Given the description of an element on the screen output the (x, y) to click on. 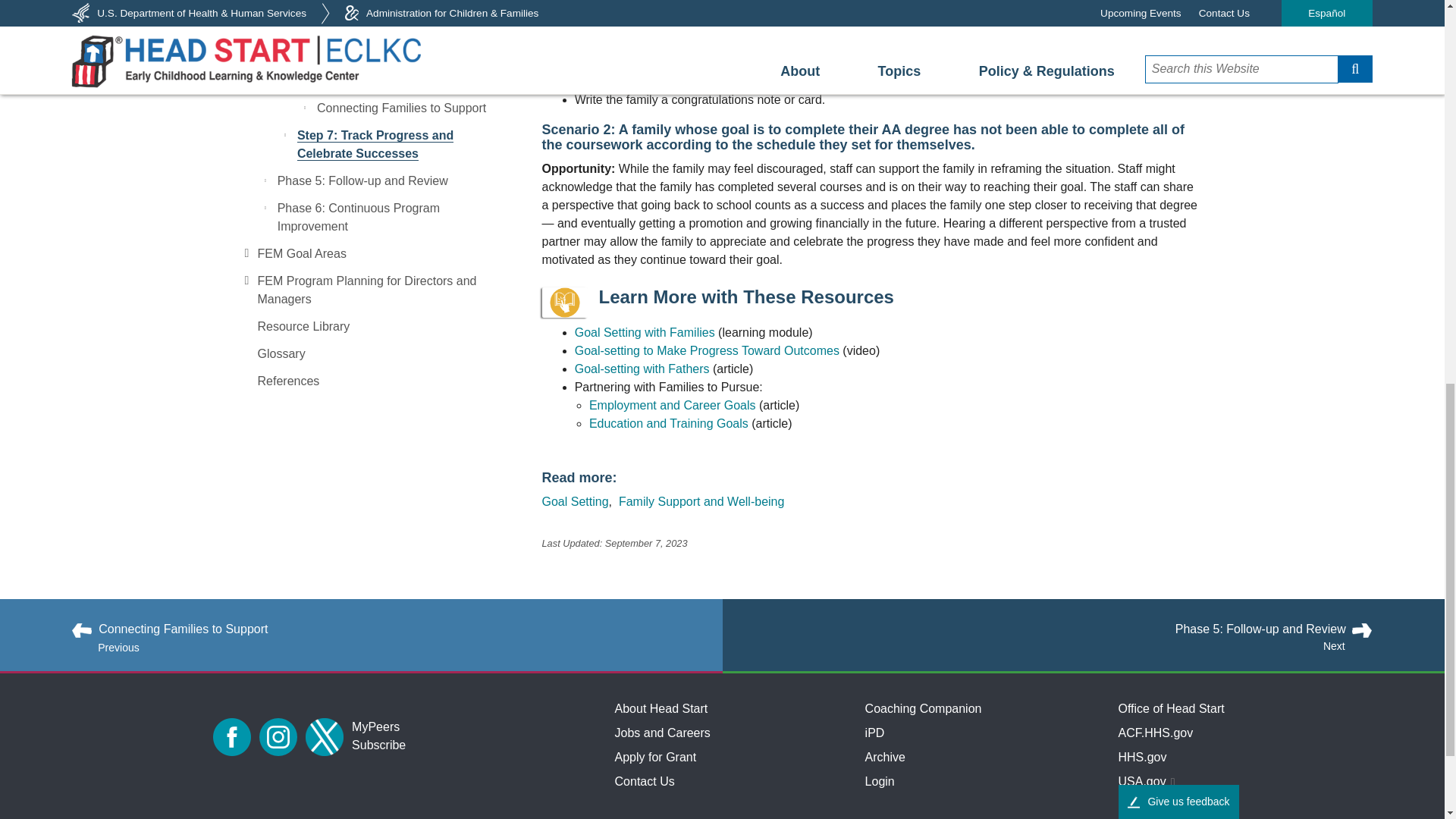
MyPeers (375, 727)
View all Family Support and Well-being related content (701, 501)
Go to next page (1072, 628)
Go to Twitter (324, 736)
Go to previous page (372, 628)
Go to the webpage (672, 404)
Go to Facebook (231, 736)
Go to Instagram (278, 736)
Go to the webpage (642, 368)
Go to the webpage (709, 350)
Go to the webpage (670, 422)
Go to the webpage (644, 332)
